Given the description of an element on the screen output the (x, y) to click on. 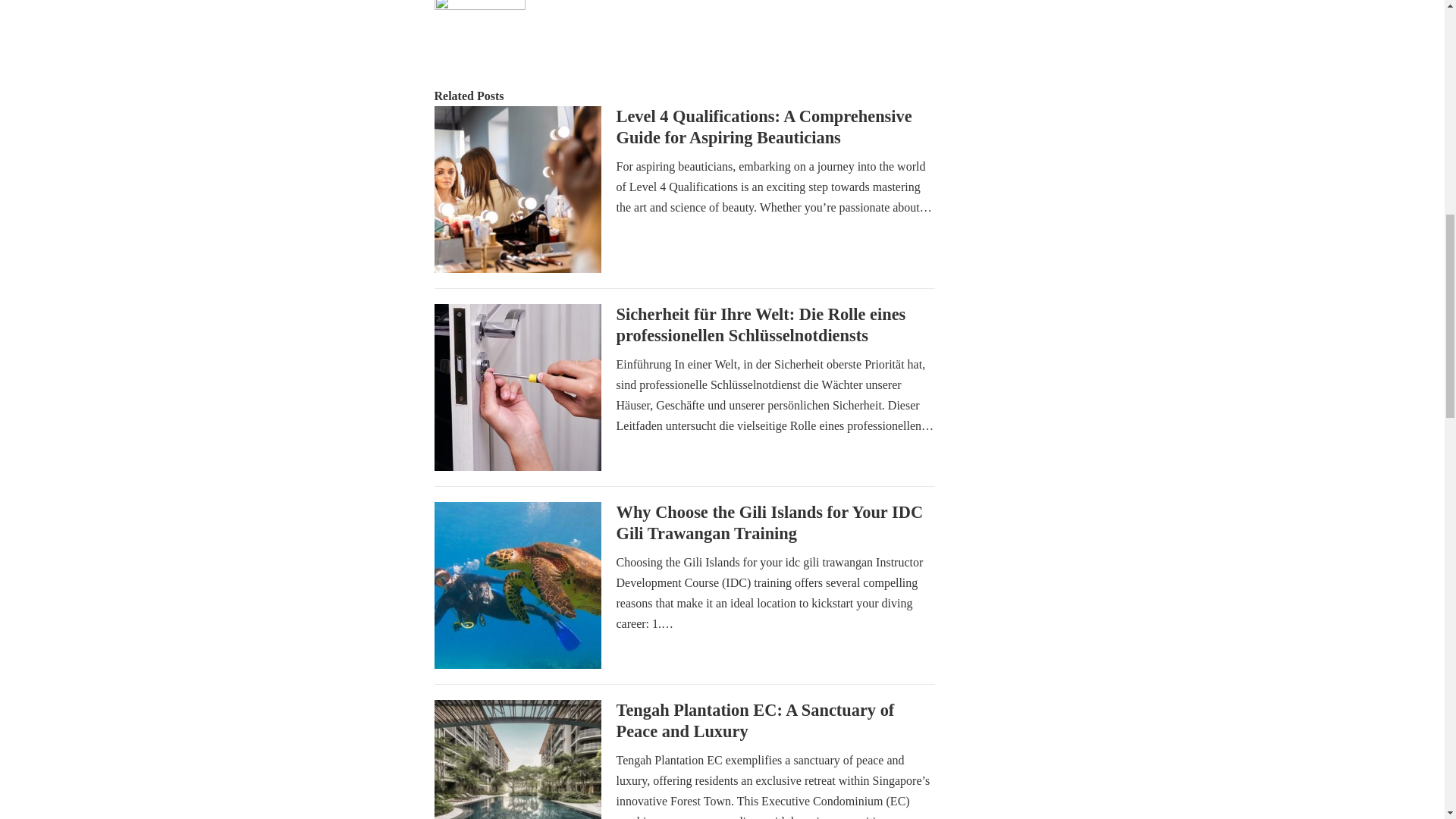
Tengah Plantation EC: A Sanctuary of Peace and Luxury (754, 721)
